Given the description of an element on the screen output the (x, y) to click on. 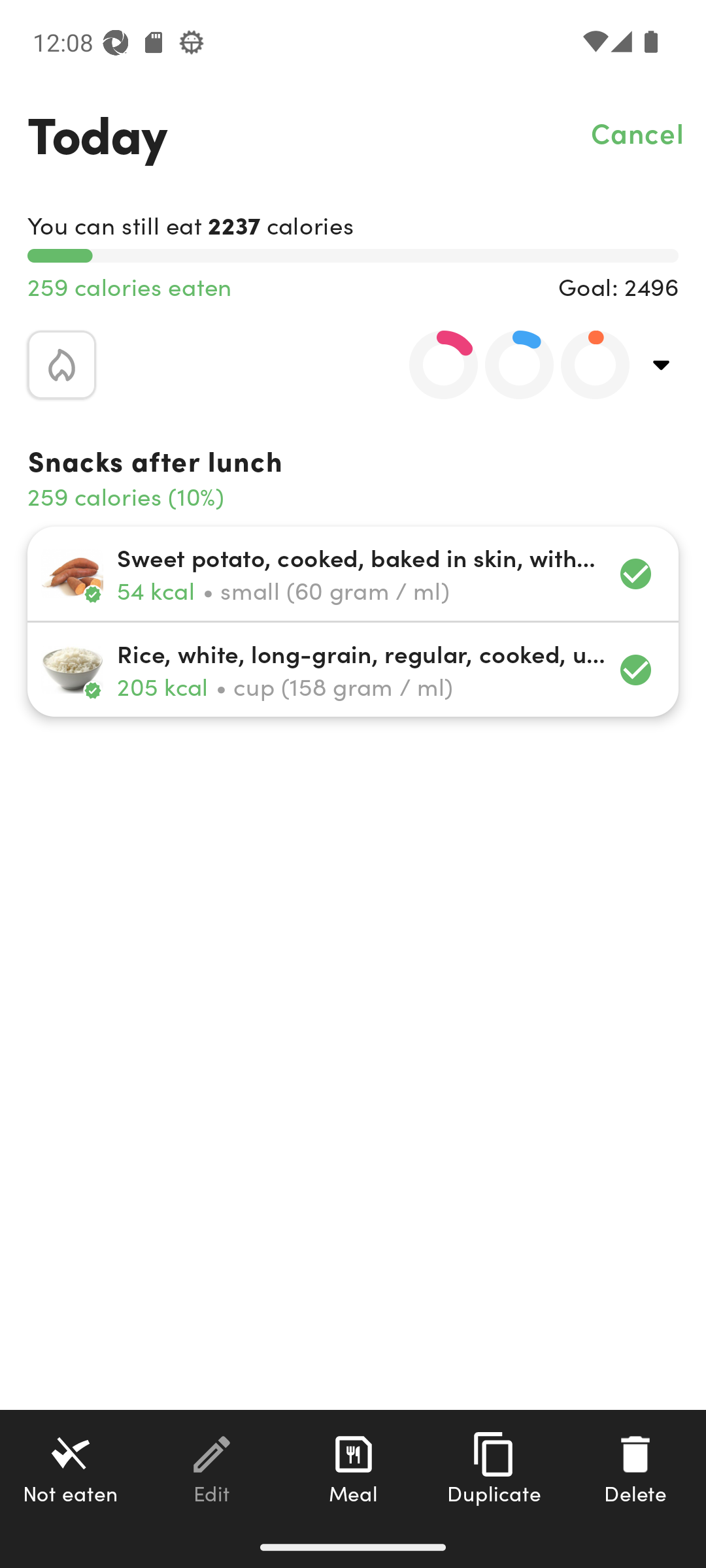
Cancel (637, 132)
calorie_icon (62, 365)
0.15 0.09 0.01 (508, 365)
top_right_action (661, 365)
Not eaten (70, 1468)
Edit (211, 1468)
Meal (352, 1468)
Duplicate (493, 1468)
Delete (635, 1468)
